Given the description of an element on the screen output the (x, y) to click on. 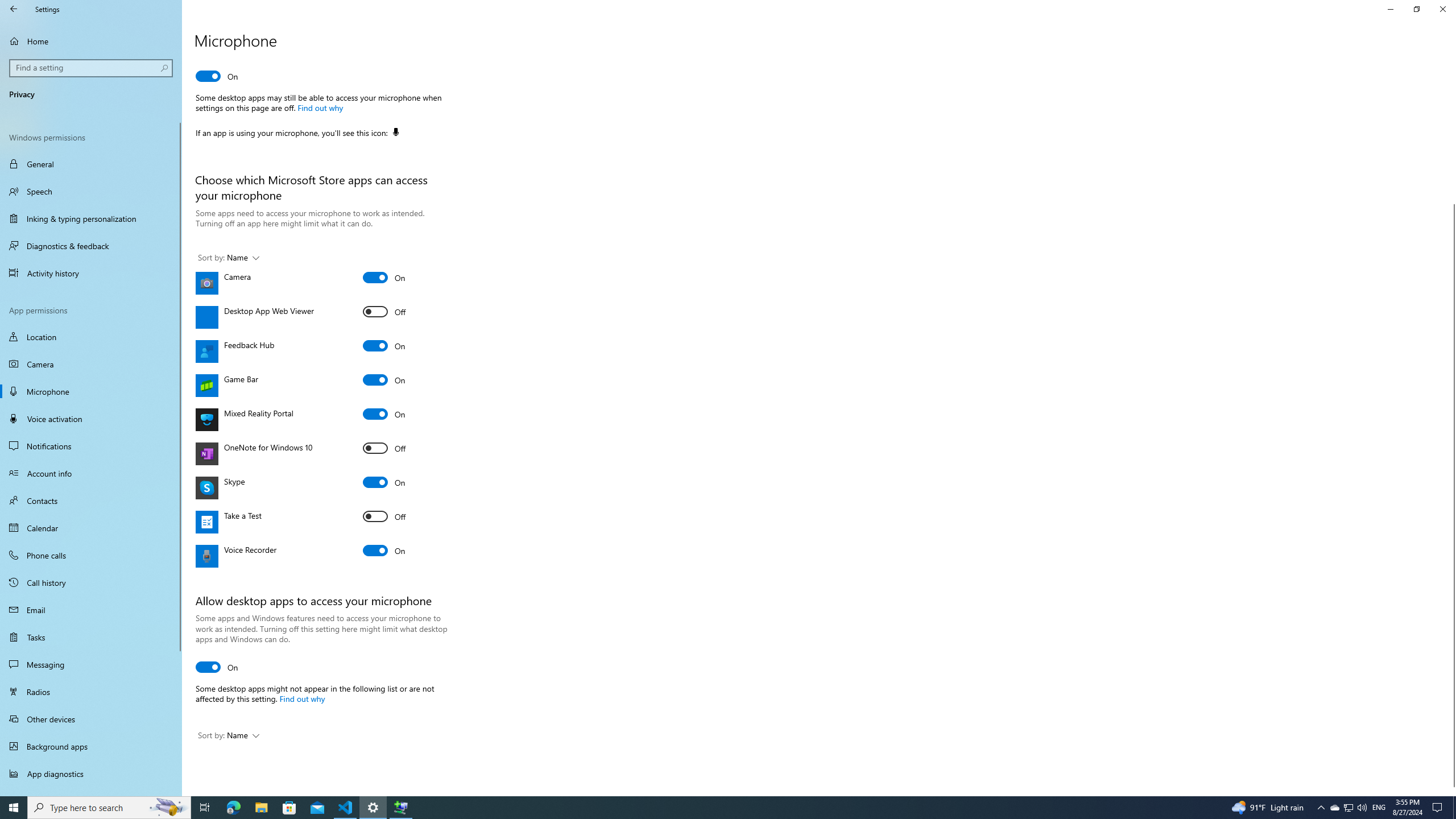
Game Bar (384, 380)
Radios (91, 691)
Microphone (91, 390)
Account info (91, 472)
Camera (384, 277)
Vertical (1451, 425)
Background apps (91, 746)
Voice Recorder (384, 550)
